Given the description of an element on the screen output the (x, y) to click on. 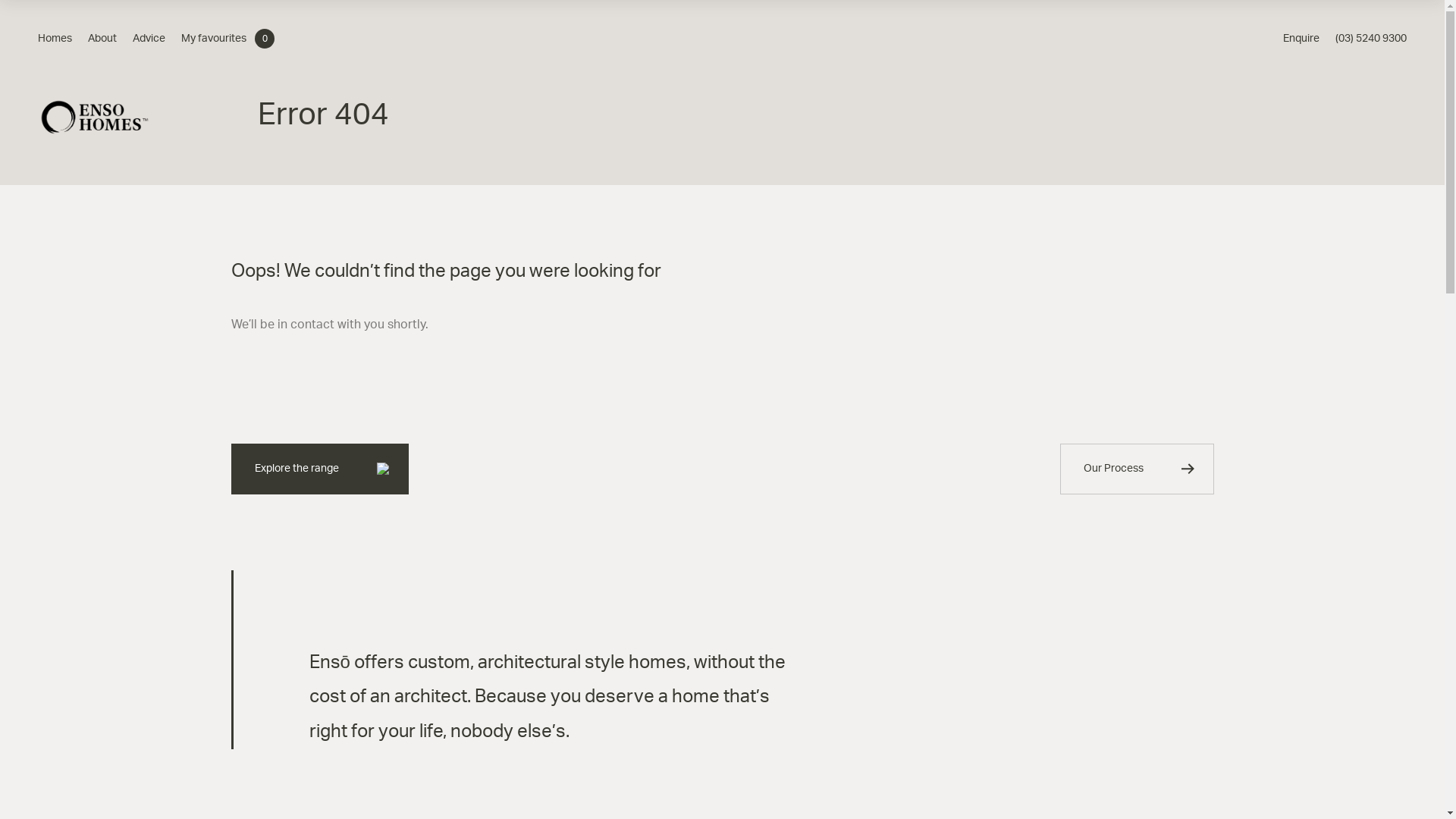
Enquire Element type: text (1301, 38)
My favourites
0 Element type: text (227, 38)
Homes Element type: text (54, 38)
Our Process Element type: text (1137, 468)
(03) 5240 9300 Element type: text (1370, 38)
Explore the range Element type: text (318, 468)
About Element type: text (101, 38)
Advice Element type: text (148, 38)
